Given the description of an element on the screen output the (x, y) to click on. 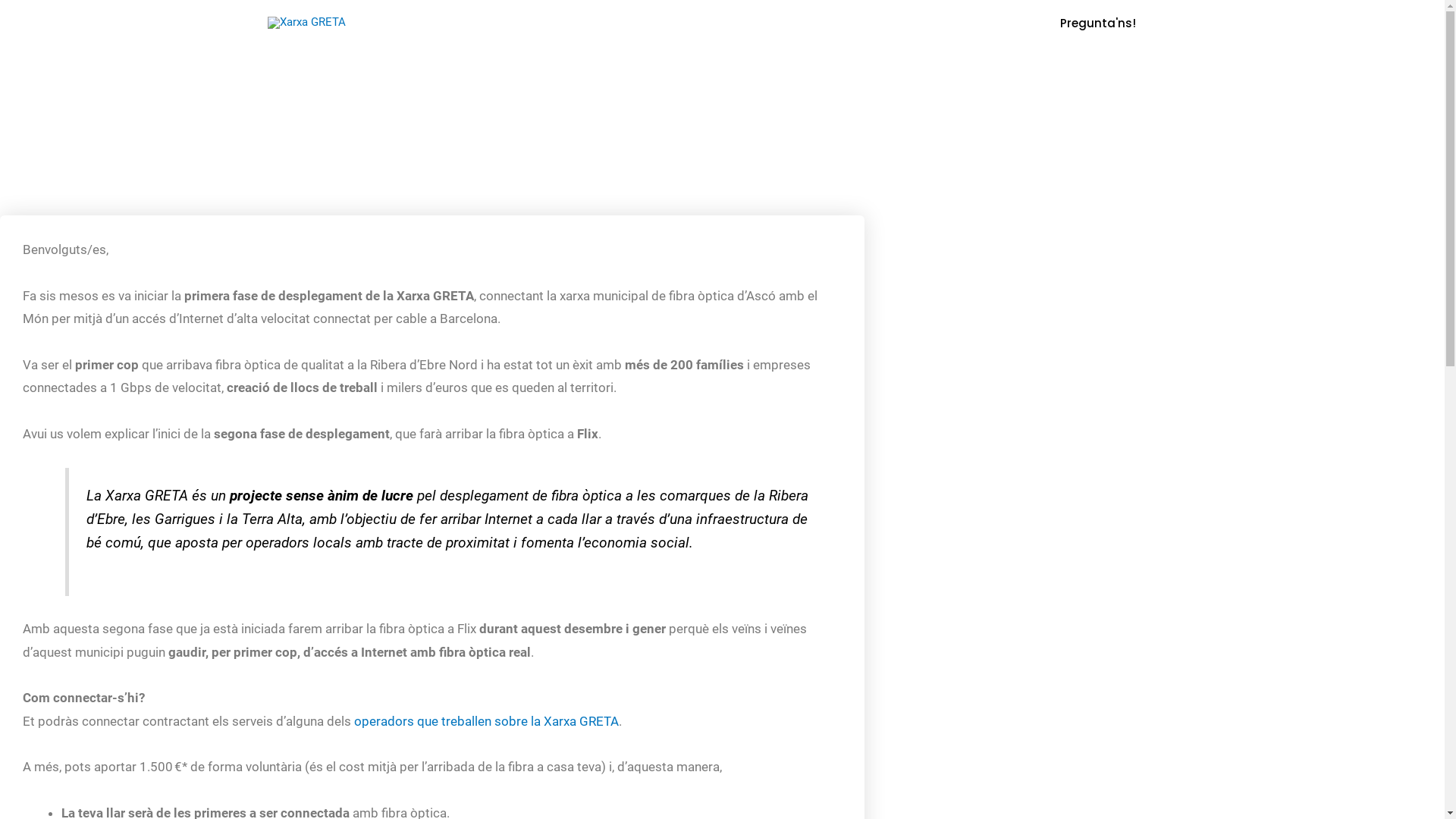
Operadors Element type: text (913, 22)
operadors que treballen sobre la Xarxa GRETA Element type: text (486, 720)
Inici Element type: text (854, 22)
Pregunta'ns! Element type: text (1097, 22)
